Given the description of an element on the screen output the (x, y) to click on. 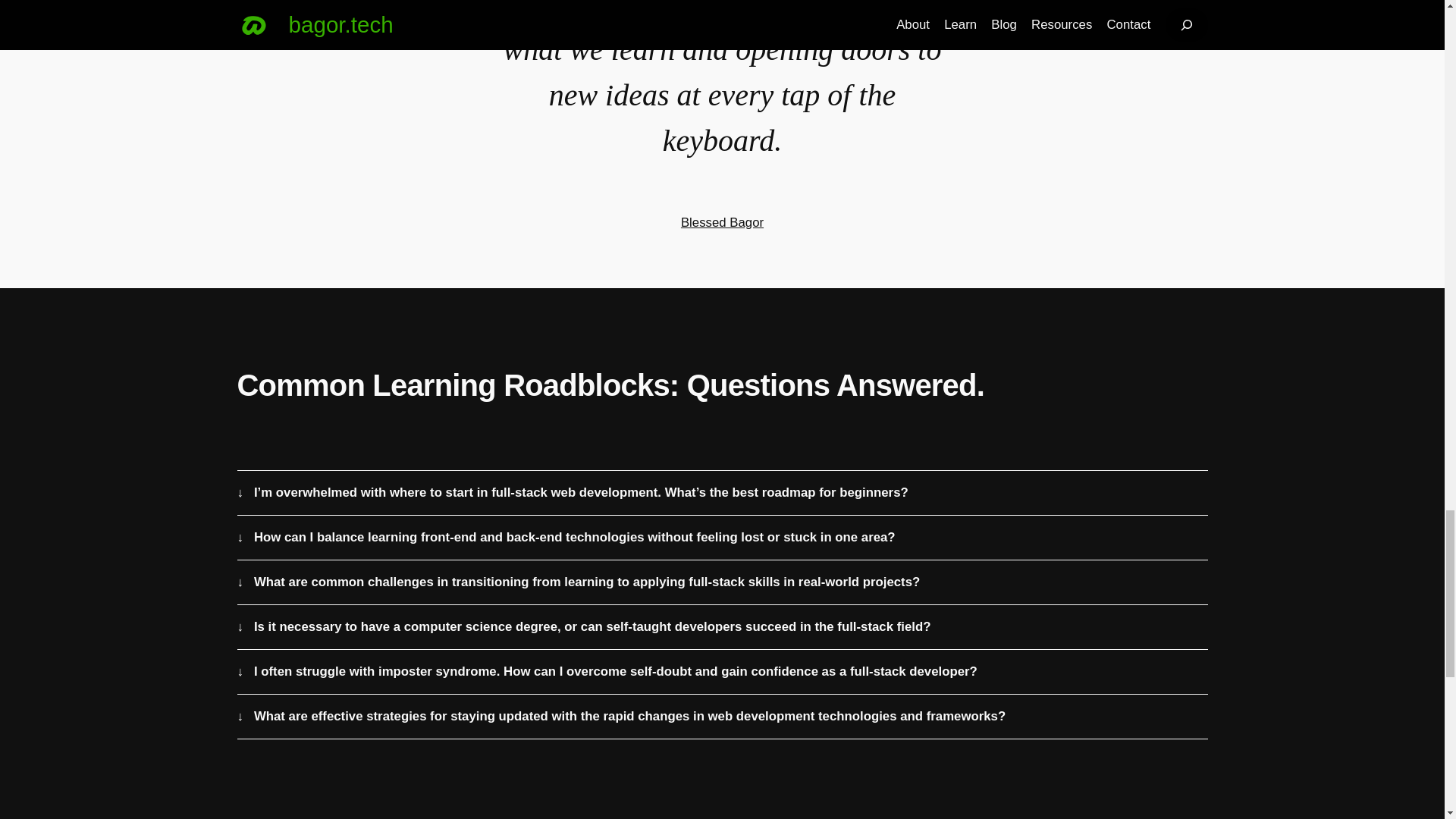
Blessed Bagor (721, 222)
